Given the description of an element on the screen output the (x, y) to click on. 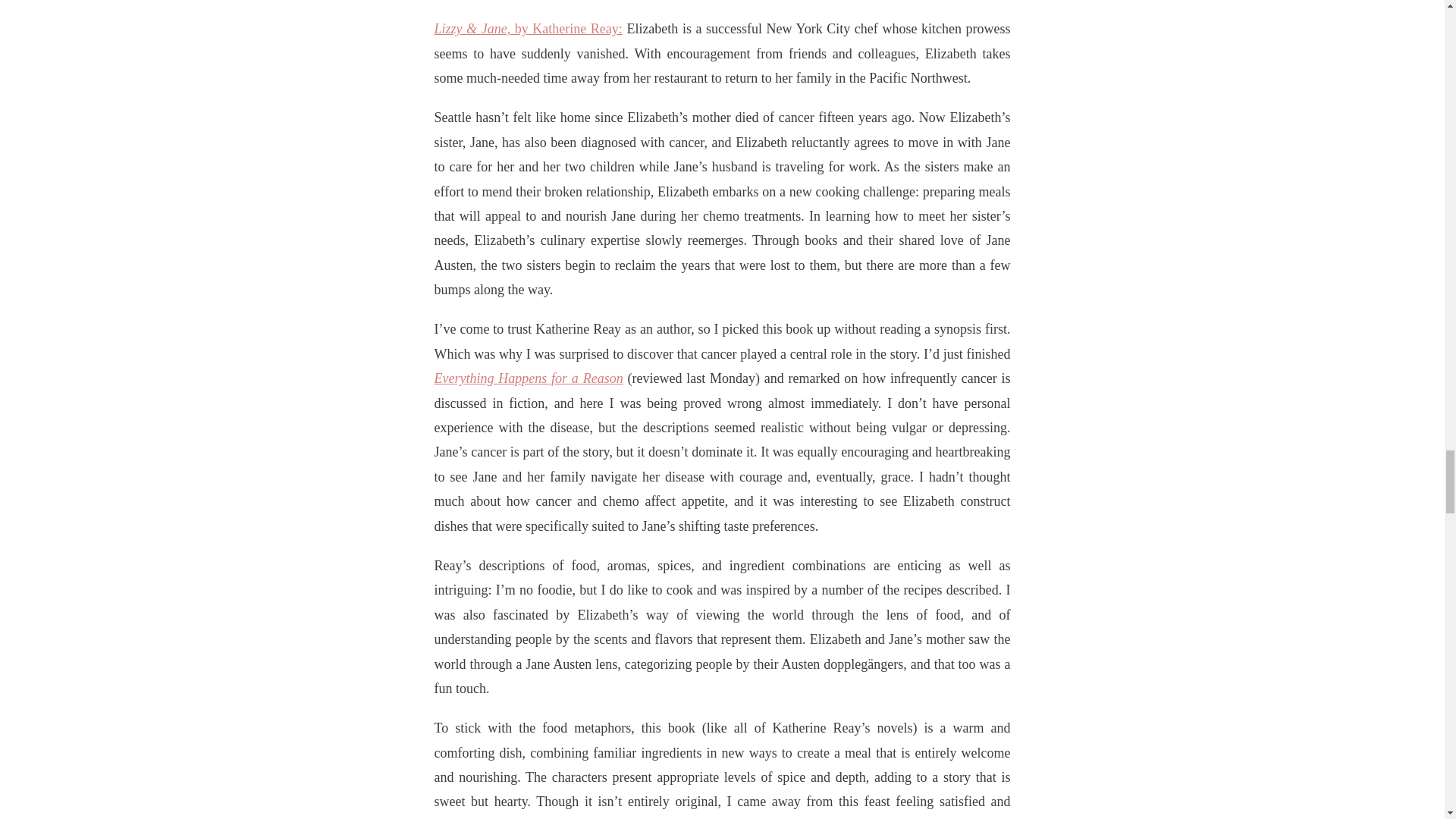
Everything Happens for a Reason (528, 378)
